Given the description of an element on the screen output the (x, y) to click on. 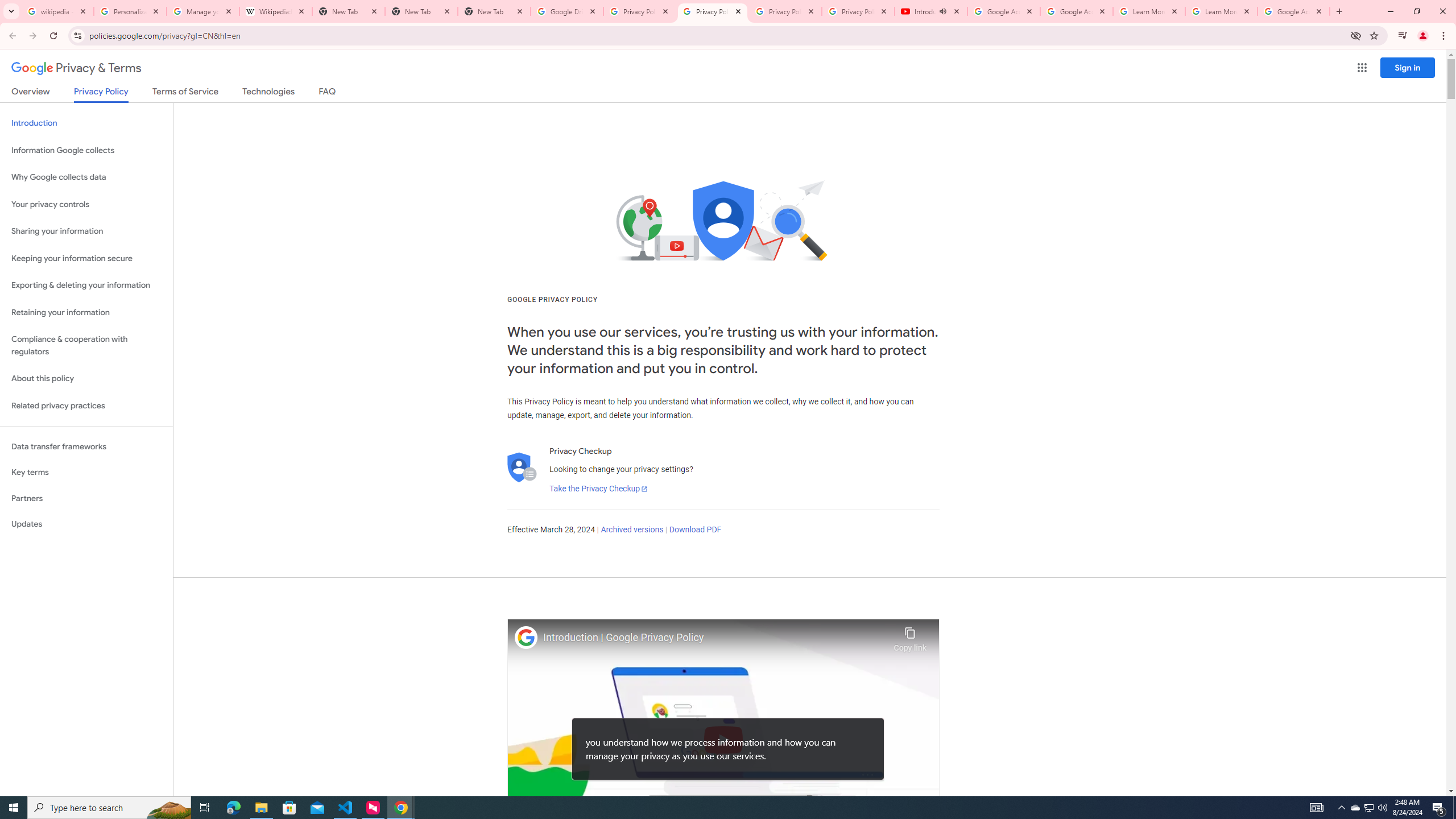
Retaining your information (86, 312)
Why Google collects data (86, 176)
